Given the description of an element on the screen output the (x, y) to click on. 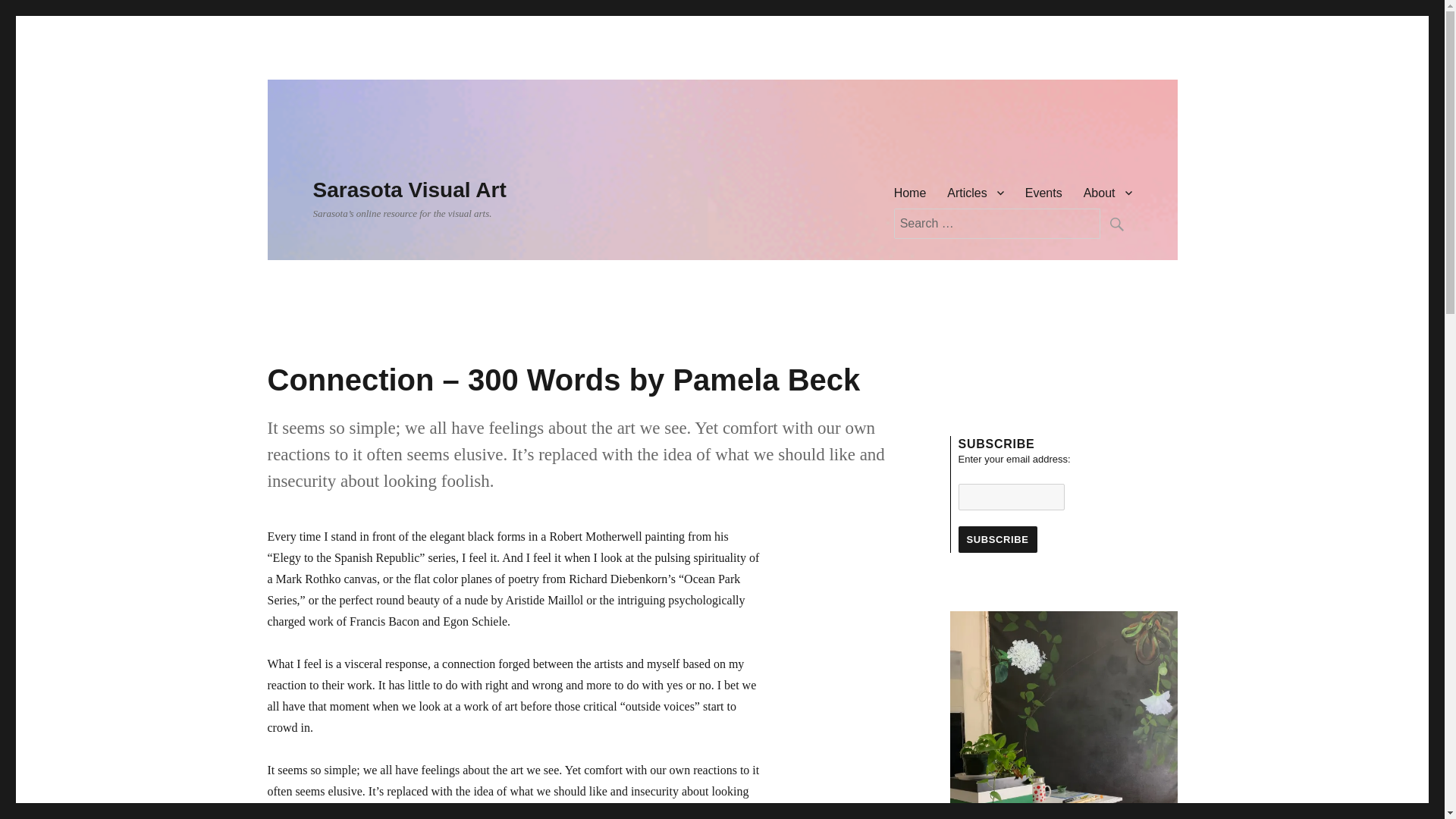
Articles (974, 192)
About (1107, 192)
Subscribe (997, 539)
SEARCH (1115, 223)
Sarasota Visual Art (409, 189)
Featured Articles (974, 192)
Home (910, 192)
Subscribe (997, 539)
Events (1043, 192)
